Given the description of an element on the screen output the (x, y) to click on. 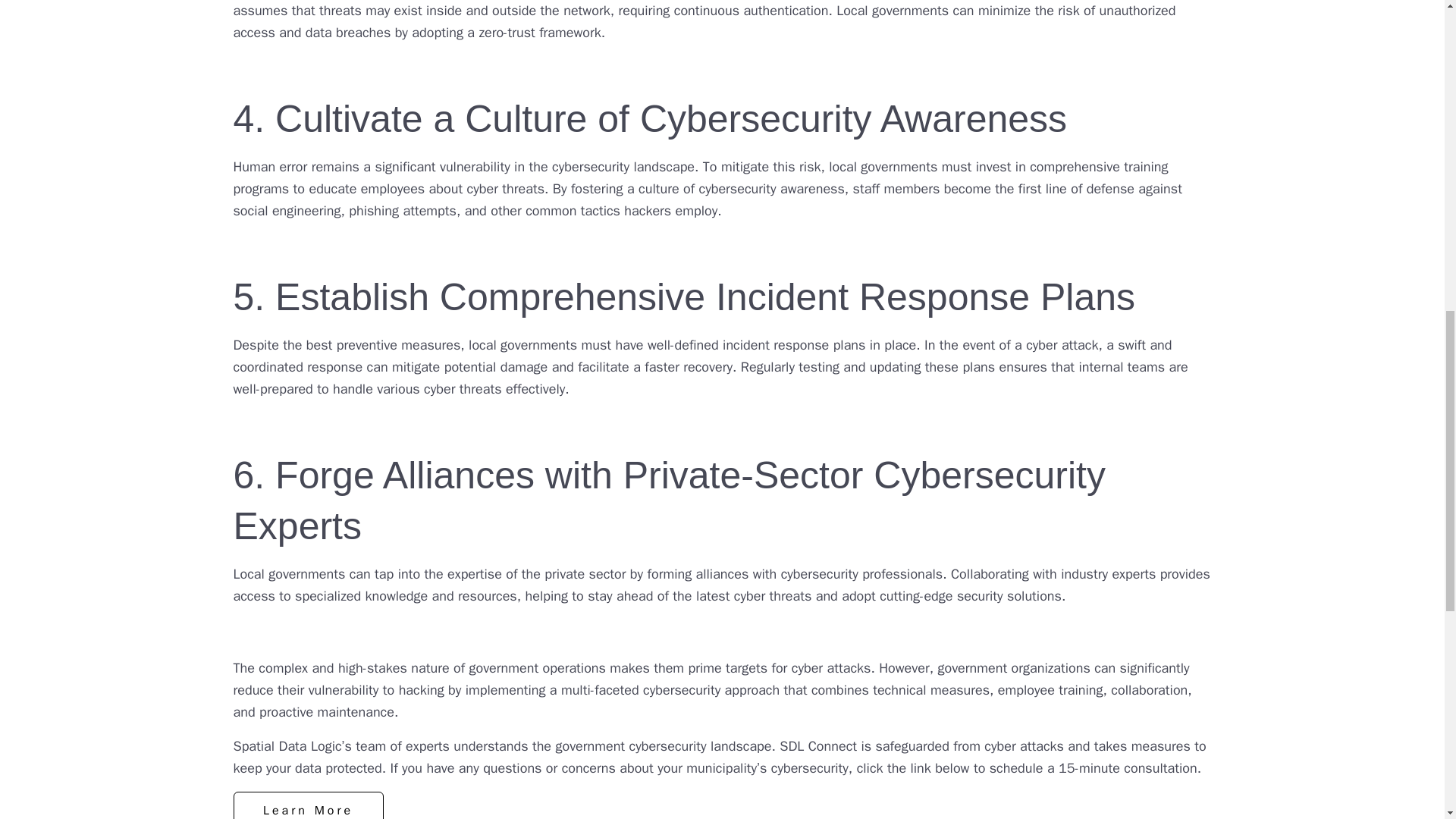
Learn More (308, 805)
